Given the description of an element on the screen output the (x, y) to click on. 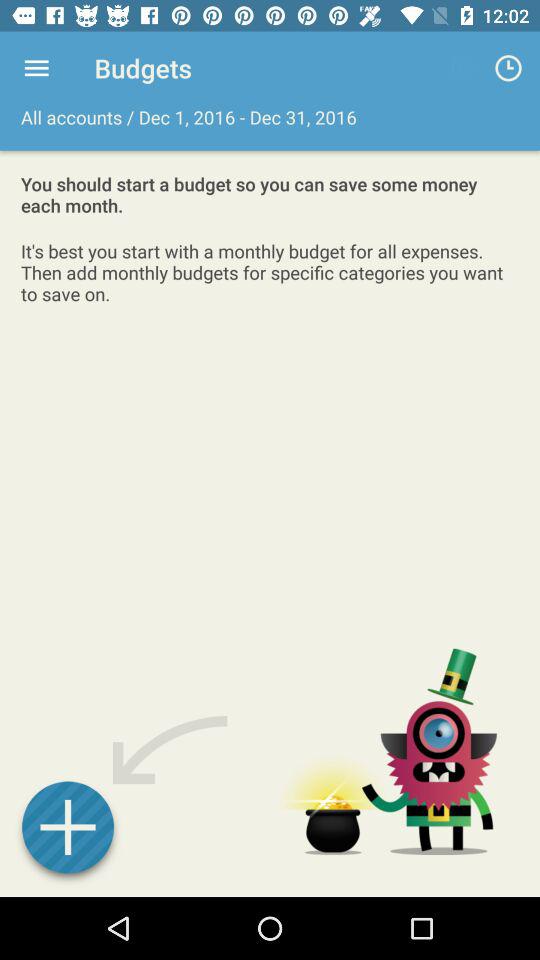
turn on the item next to budgets icon (36, 68)
